Given the description of an element on the screen output the (x, y) to click on. 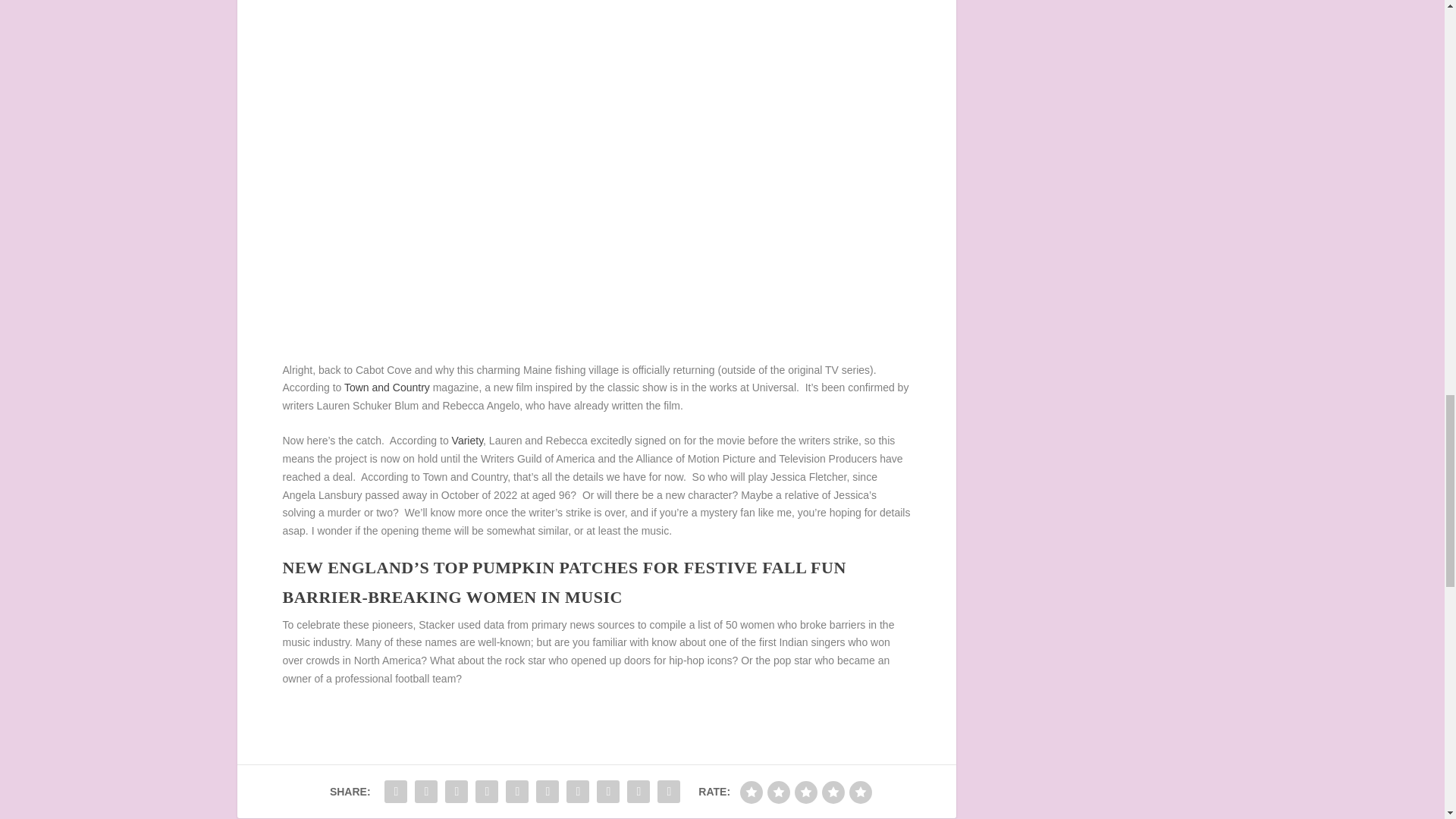
Town and Country (386, 387)
Variety (467, 440)
